Given the description of an element on the screen output the (x, y) to click on. 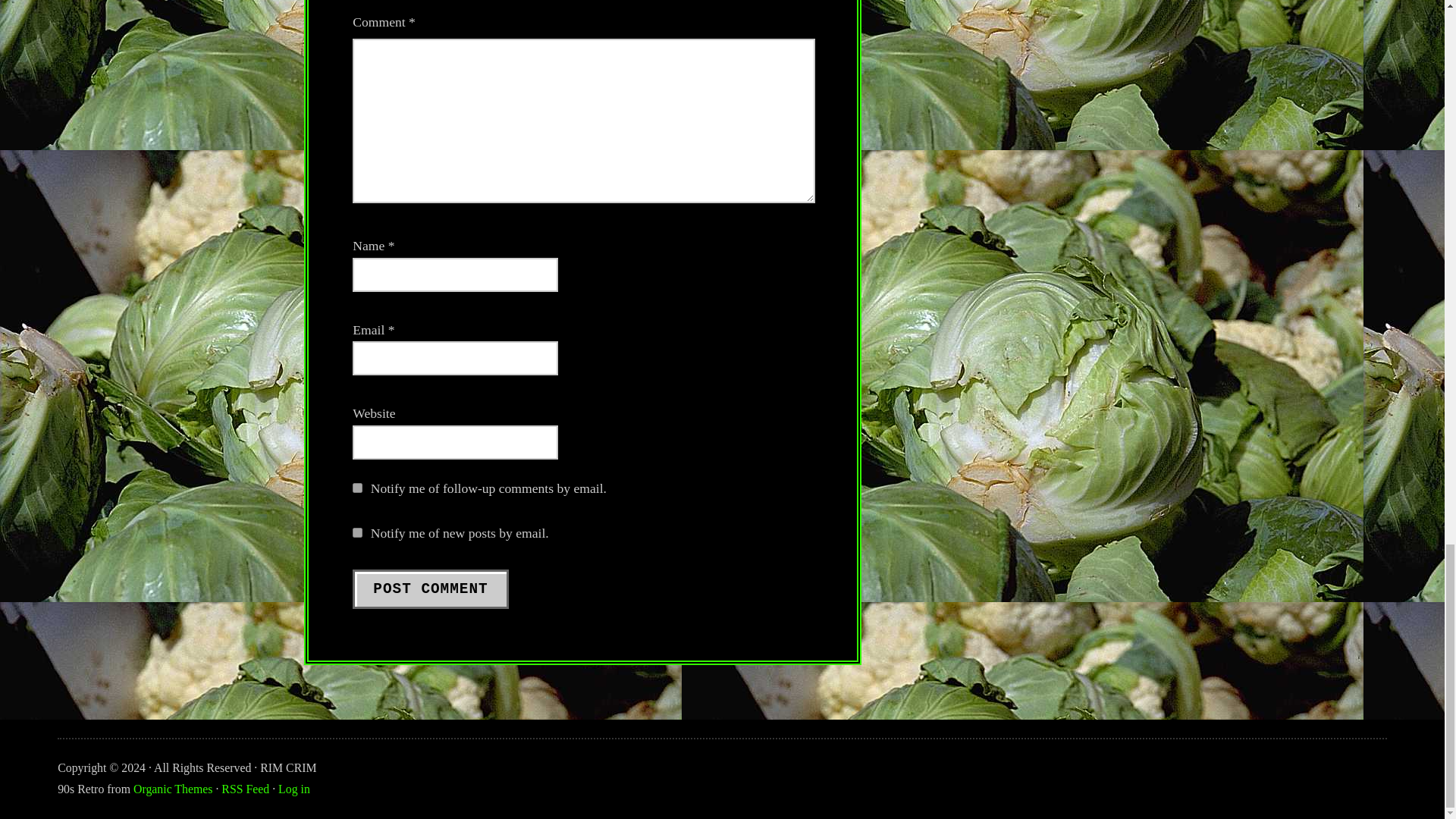
subscribe (357, 532)
RSS Feed (245, 788)
Log in (294, 788)
Post Comment (430, 589)
subscribe (357, 488)
Organic Themes (172, 788)
Post Comment (430, 589)
